Given the description of an element on the screen output the (x, y) to click on. 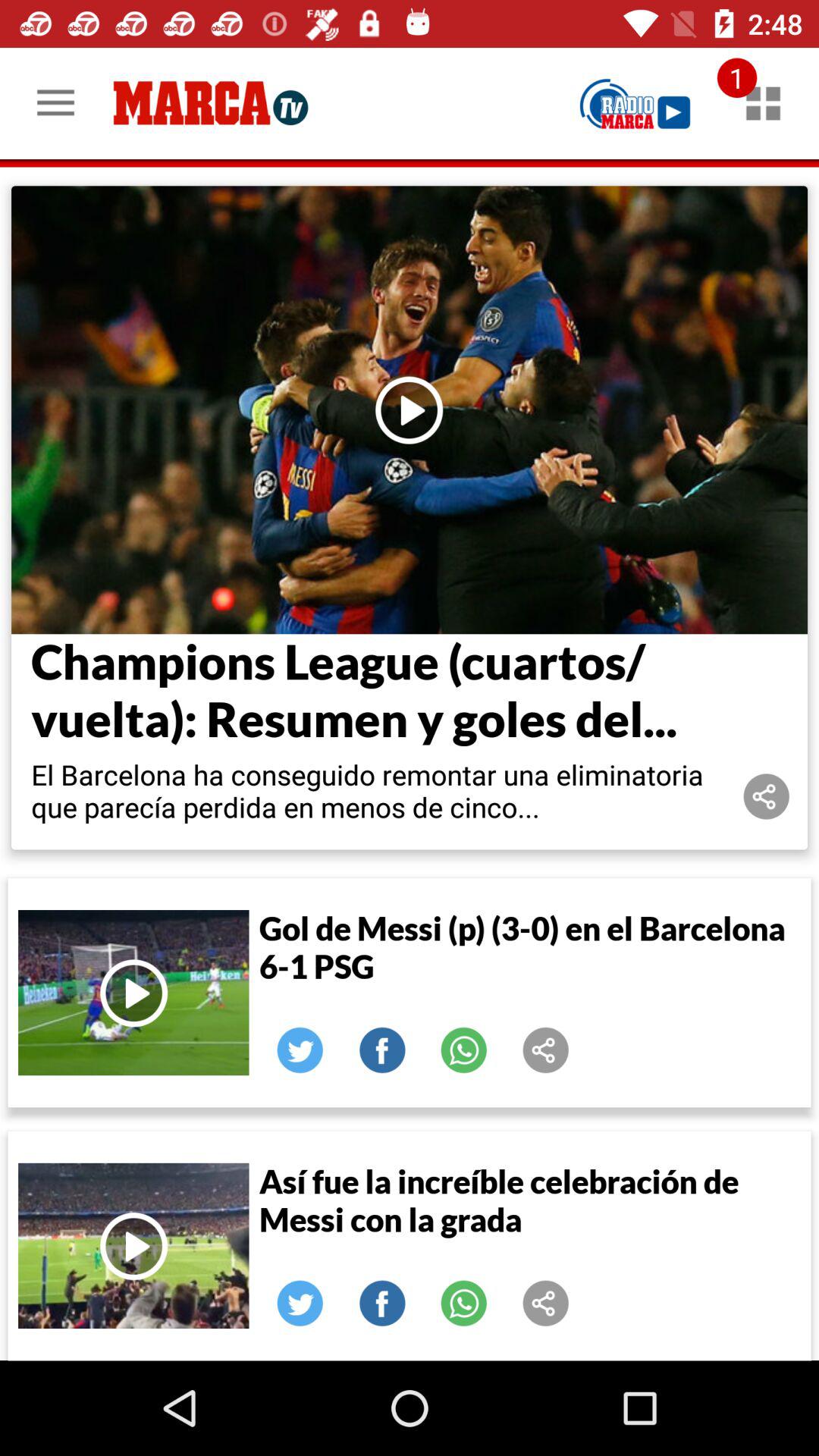
bring up menu (763, 103)
